Given the description of an element on the screen output the (x, y) to click on. 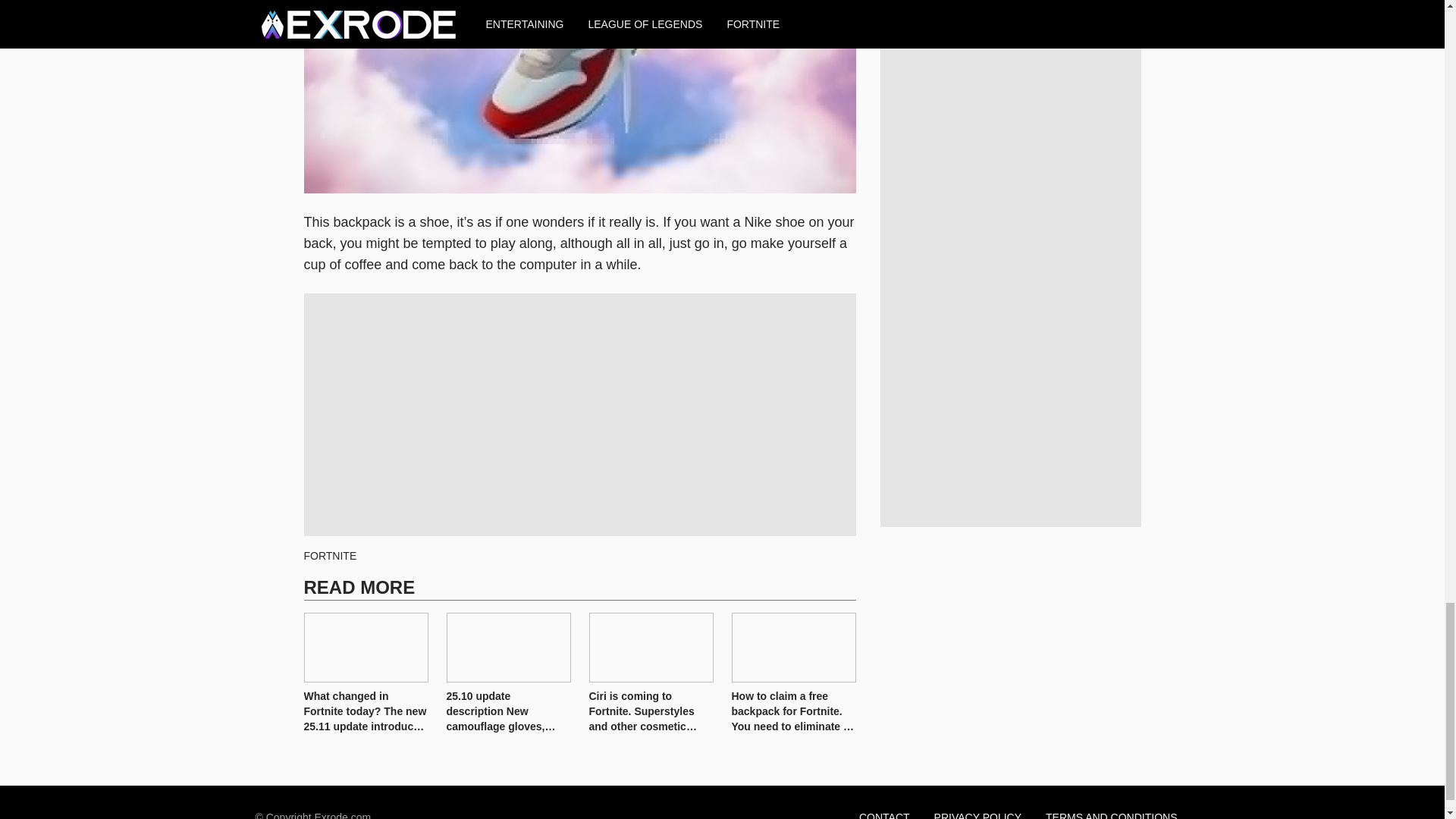
CONTACT (884, 809)
PRIVACY POLICY (977, 809)
TERMS AND CONDITIONS (1111, 809)
